Given the description of an element on the screen output the (x, y) to click on. 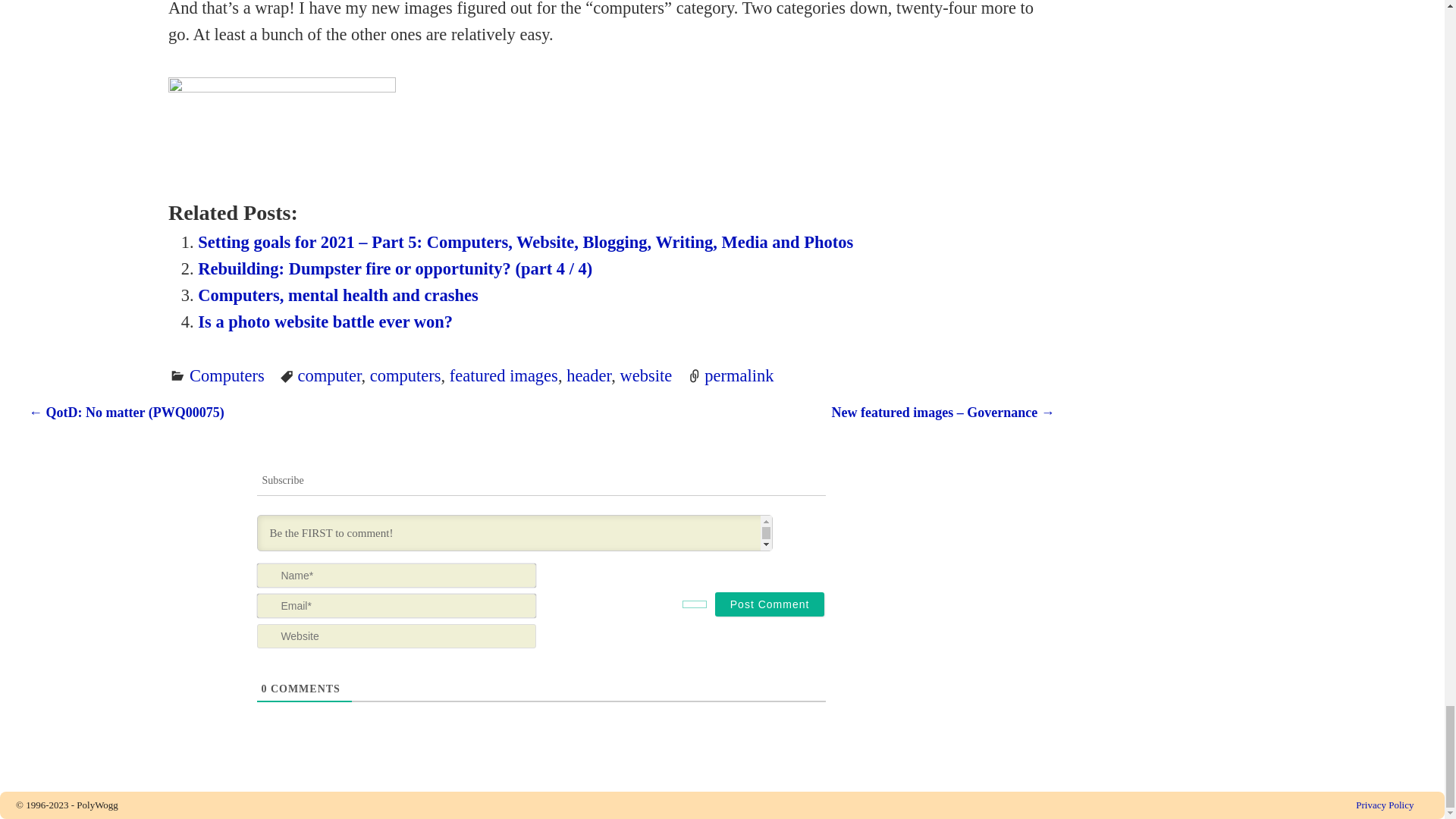
Computers, mental health and crashes (337, 294)
Is a photo website battle ever won? (325, 321)
Post Comment (769, 604)
